Given the description of an element on the screen output the (x, y) to click on. 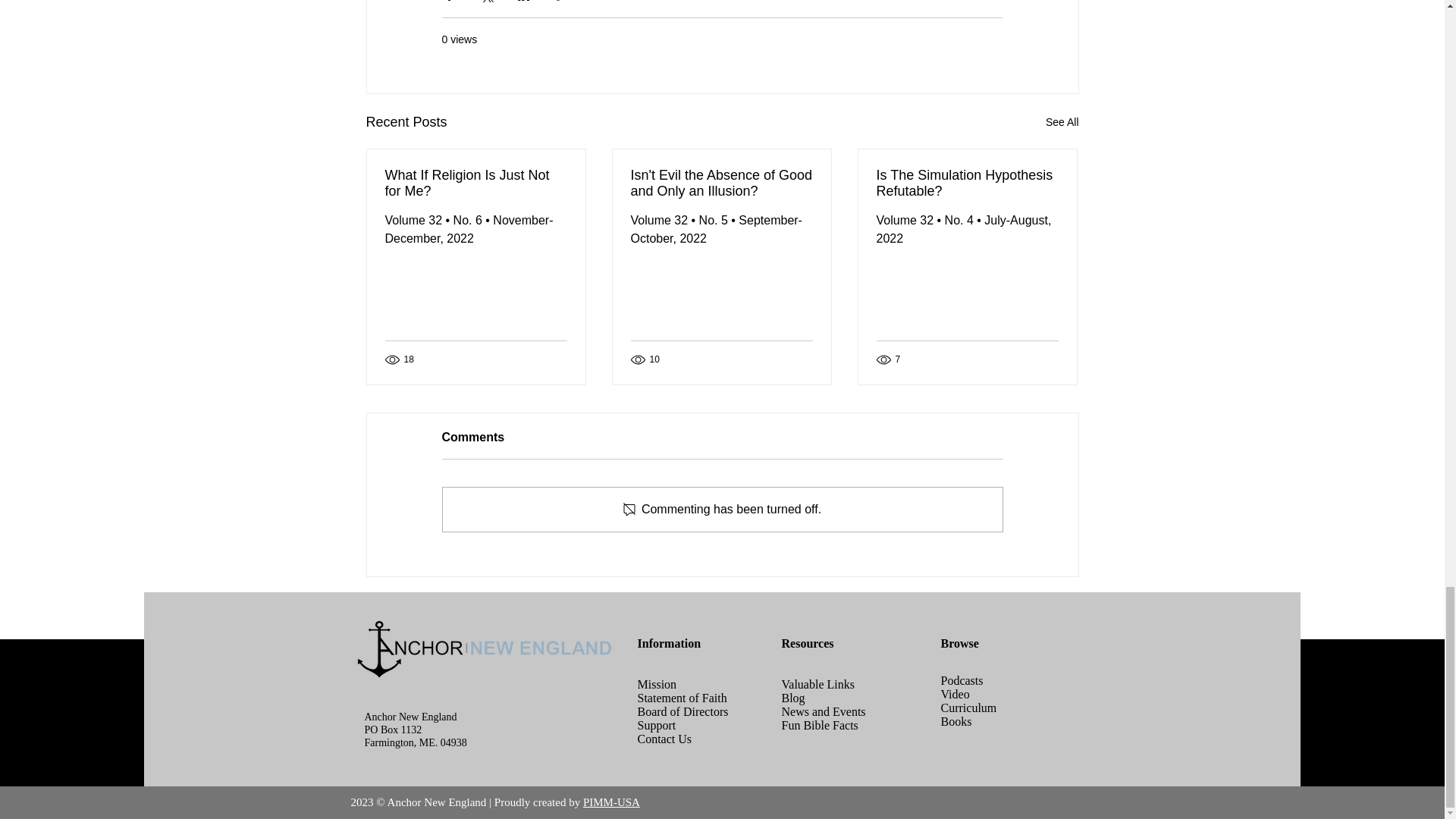
Statement of Faith (681, 697)
Mission (657, 684)
What If Religion Is Just Not for Me? (476, 183)
Is The Simulation Hypothesis Refutable? (967, 183)
Isn't Evil the Absence of Good and Only an Illusion? (721, 183)
See All (1061, 122)
